Given the description of an element on the screen output the (x, y) to click on. 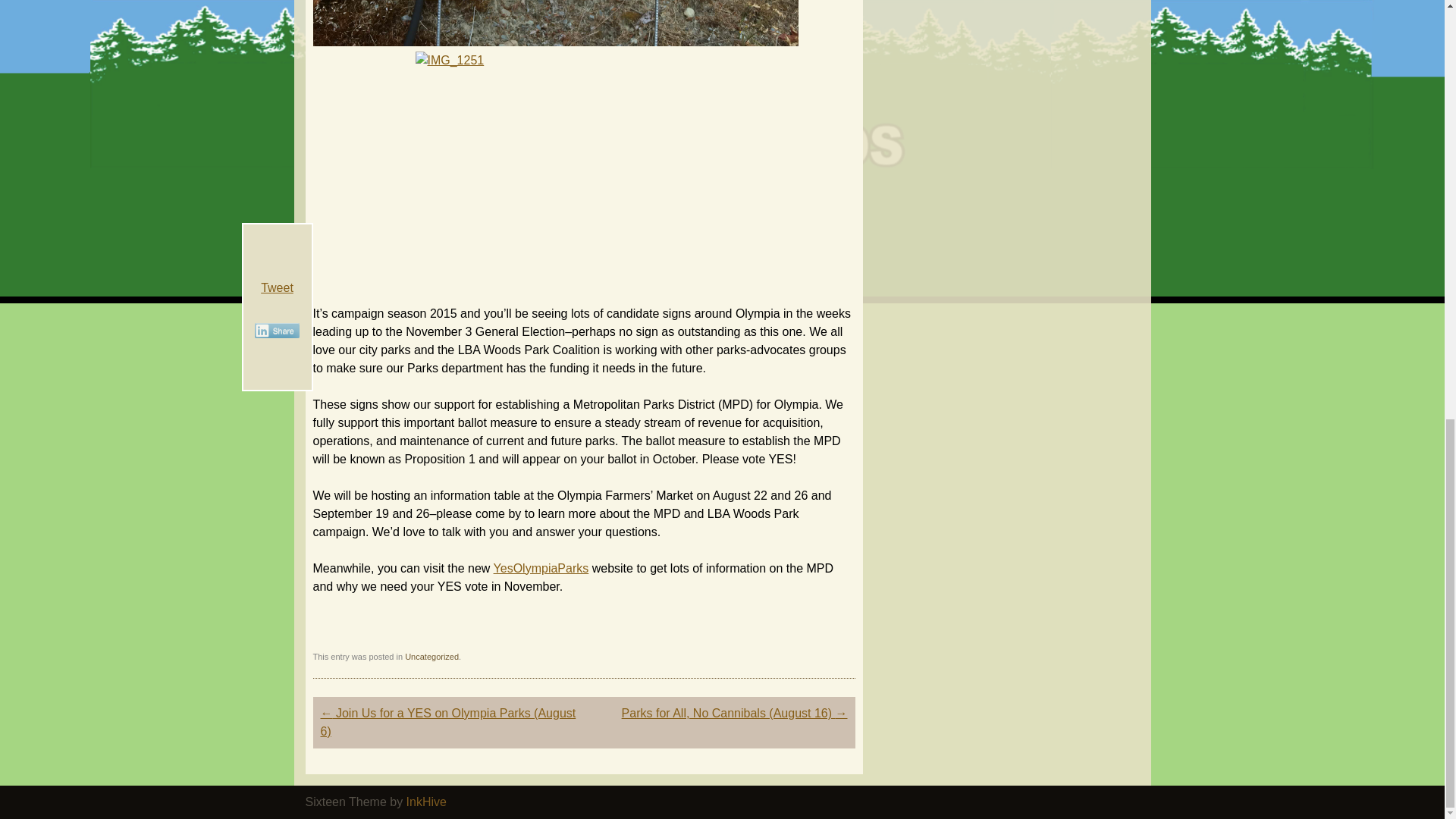
Uncategorized (431, 655)
YesOlympiaParks (541, 567)
